Given the description of an element on the screen output the (x, y) to click on. 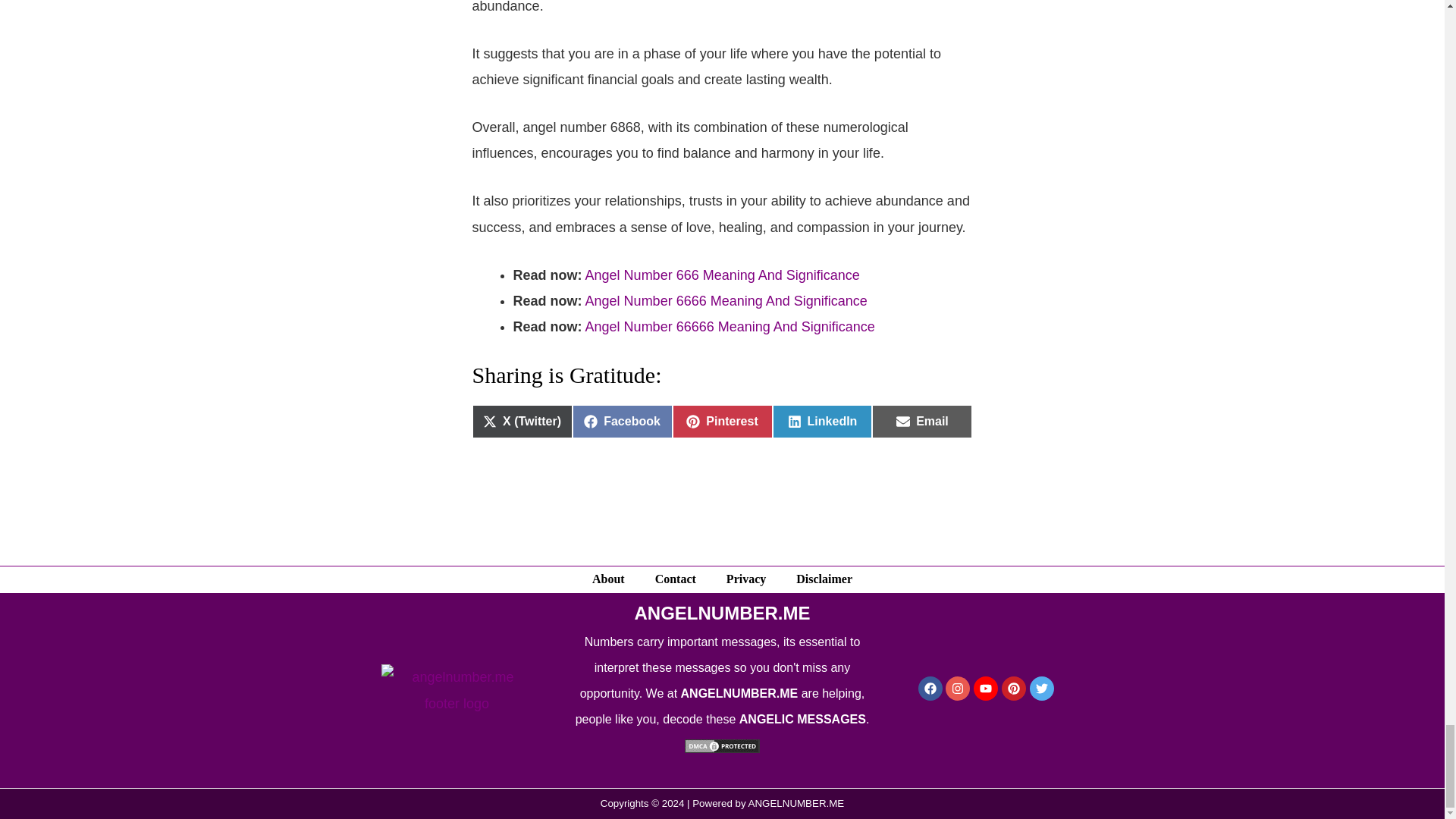
Contact (622, 421)
DMCA.com Protection Status (675, 579)
Angel Number 666 Meaning And Significance (722, 744)
Angel Number 66666 Meaning And Significance (821, 421)
Angel Number 6666 Meaning And Significance (722, 421)
About (722, 274)
